Given the description of an element on the screen output the (x, y) to click on. 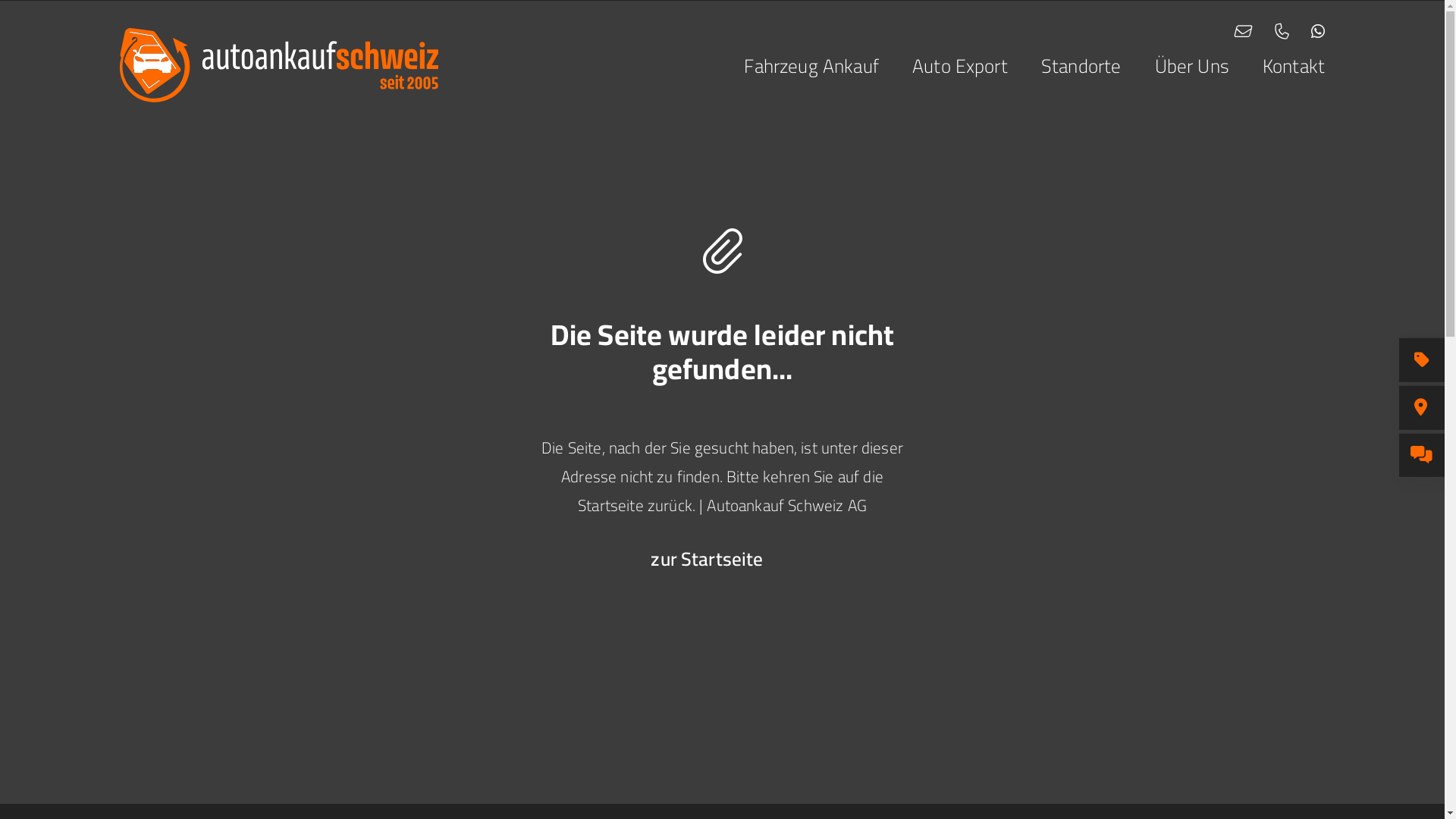
Kontakt Element type: text (1276, 65)
zur Startseite Element type: text (706, 558)
Fahrzeug Ankauf Element type: text (794, 65)
Standorte Element type: text (1064, 65)
Auto Export Element type: text (942, 65)
